Given the description of an element on the screen output the (x, y) to click on. 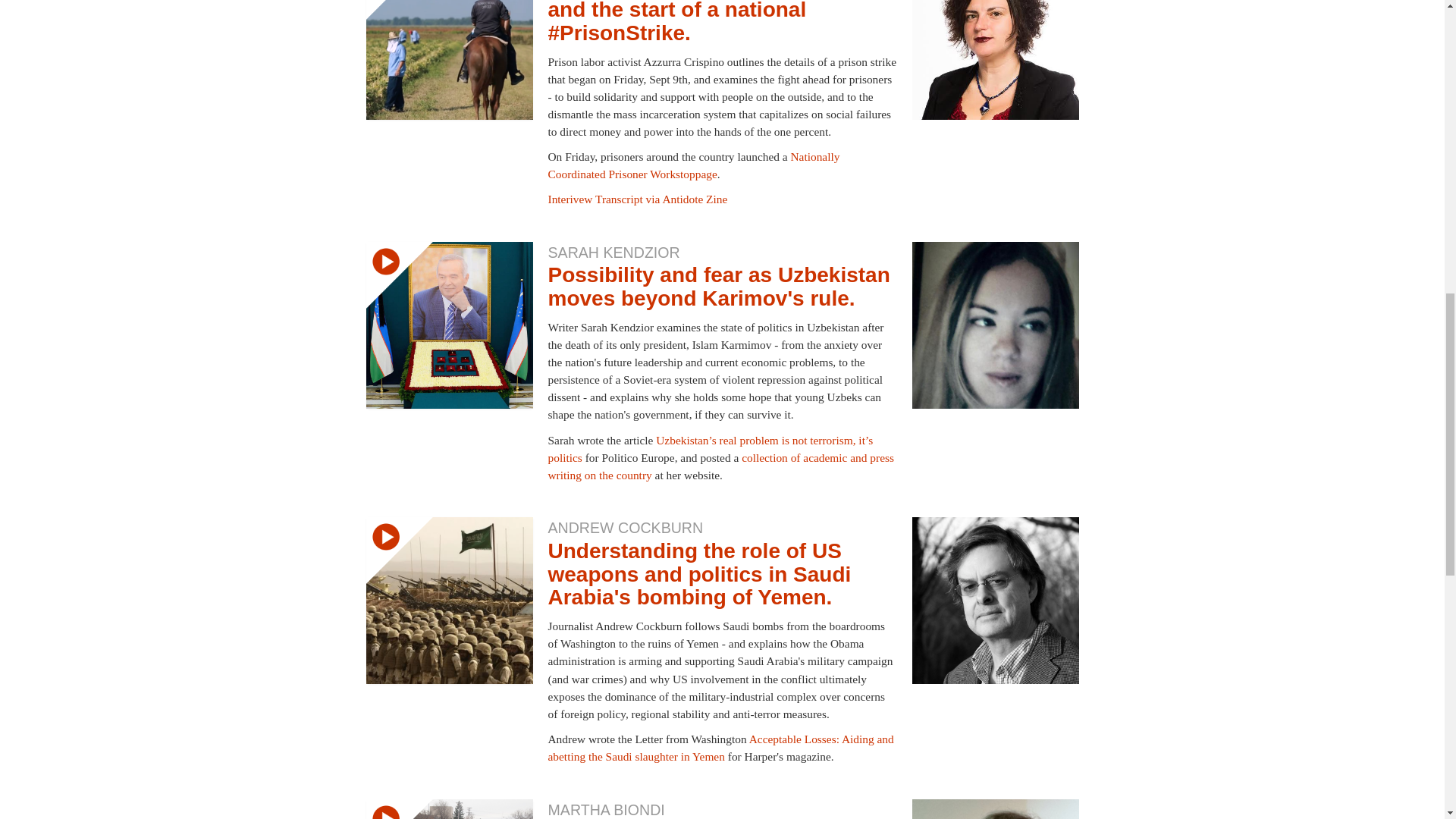
Interivew Transcript via Antidote Zine (636, 198)
collection of academic and press writing on the country (720, 466)
Nationally Coordinated Prisoner Workstoppage (693, 164)
